Given the description of an element on the screen output the (x, y) to click on. 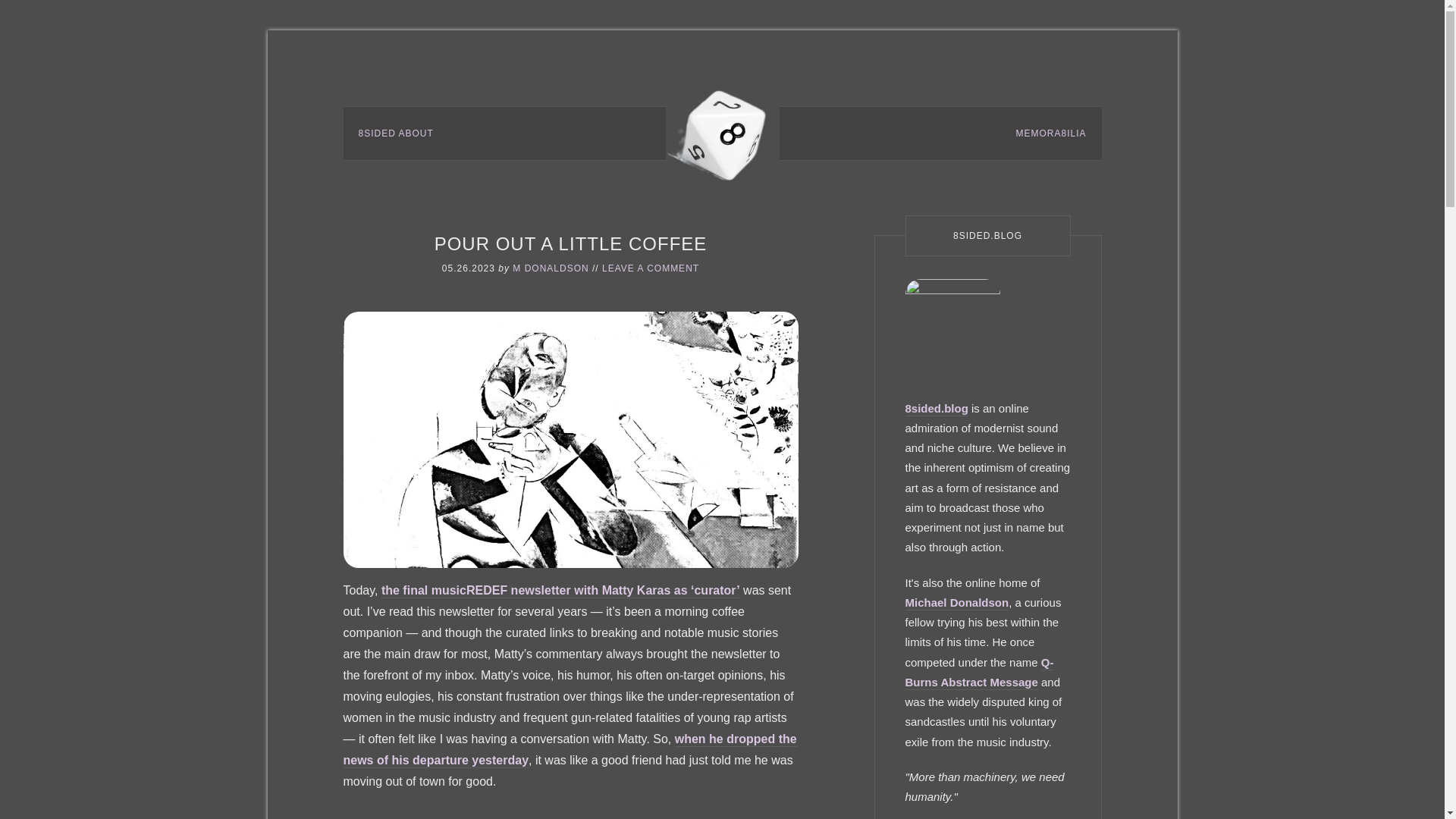
M DONALDSON (550, 267)
Michael Donaldson (957, 603)
8SIDED BLOG (721, 132)
MEMORA8ILIA (1050, 133)
8sided.blog (936, 409)
8SIDED ABOUT (395, 133)
LEAVE A COMMENT (650, 267)
when he dropped the news of his departure yesterday (569, 750)
Q-Burns Abstract Message (979, 672)
